Given the description of an element on the screen output the (x, y) to click on. 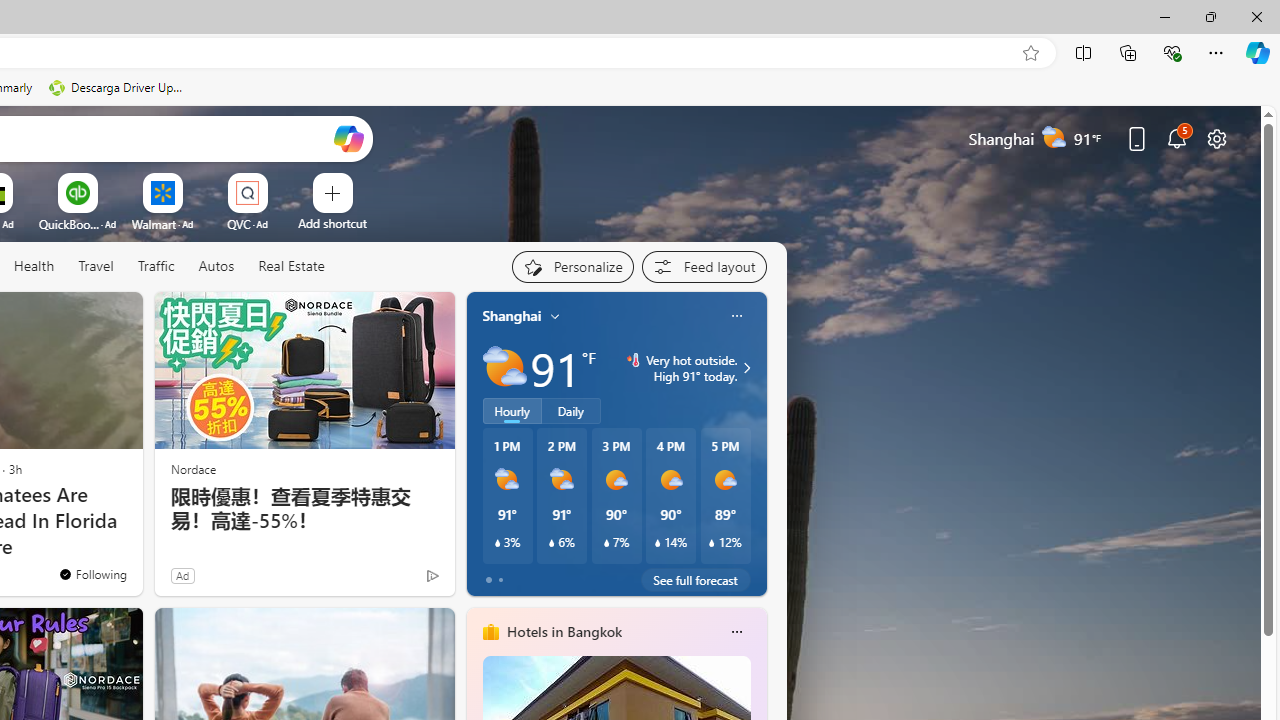
Shanghai (511, 315)
hotels-header-icon (490, 632)
Daily (571, 411)
Hide this story (82, 315)
Personalize your feed" (571, 266)
